Given the description of an element on the screen output the (x, y) to click on. 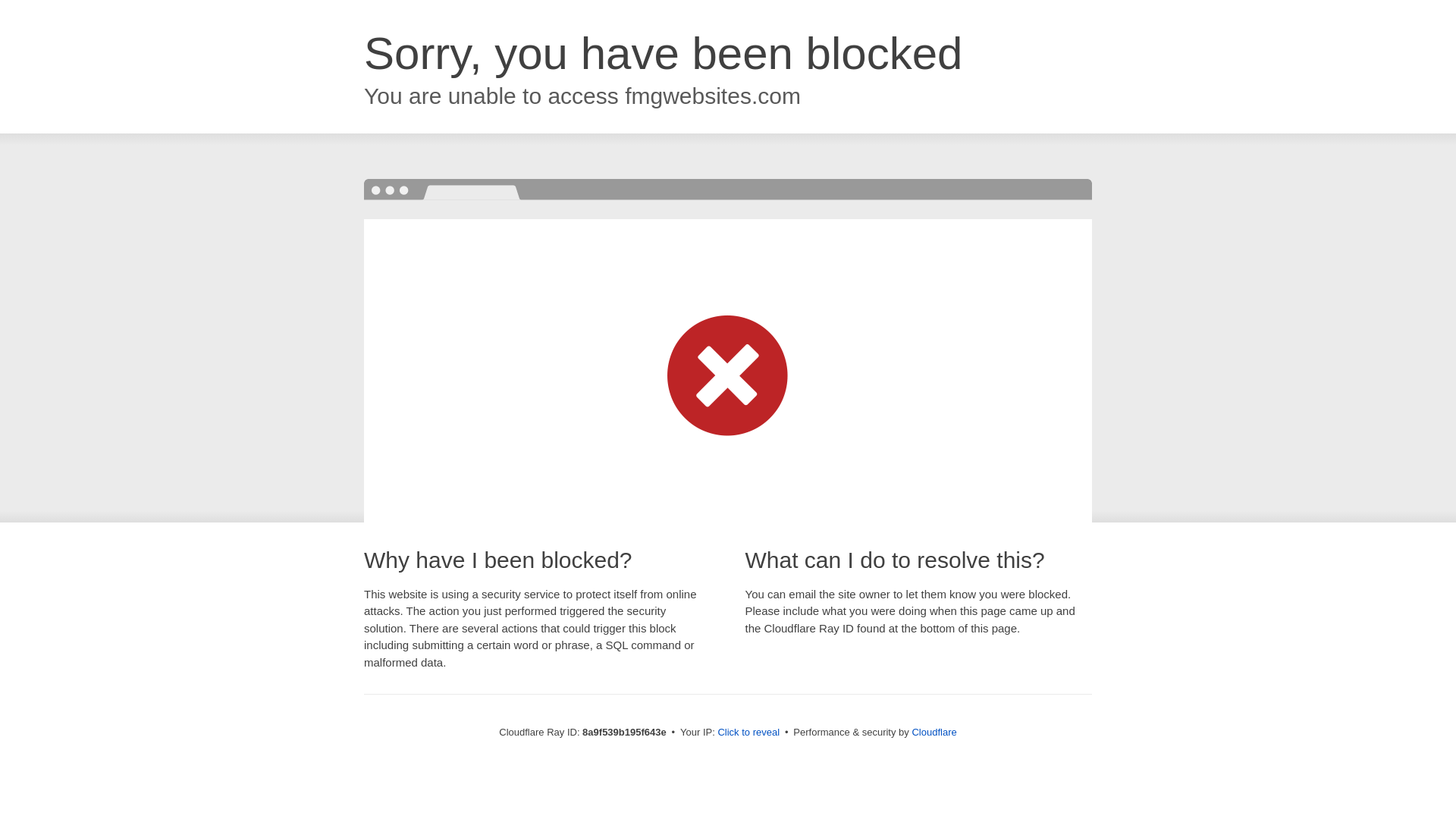
Cloudflare (933, 731)
Click to reveal (747, 732)
